Given the description of an element on the screen output the (x, y) to click on. 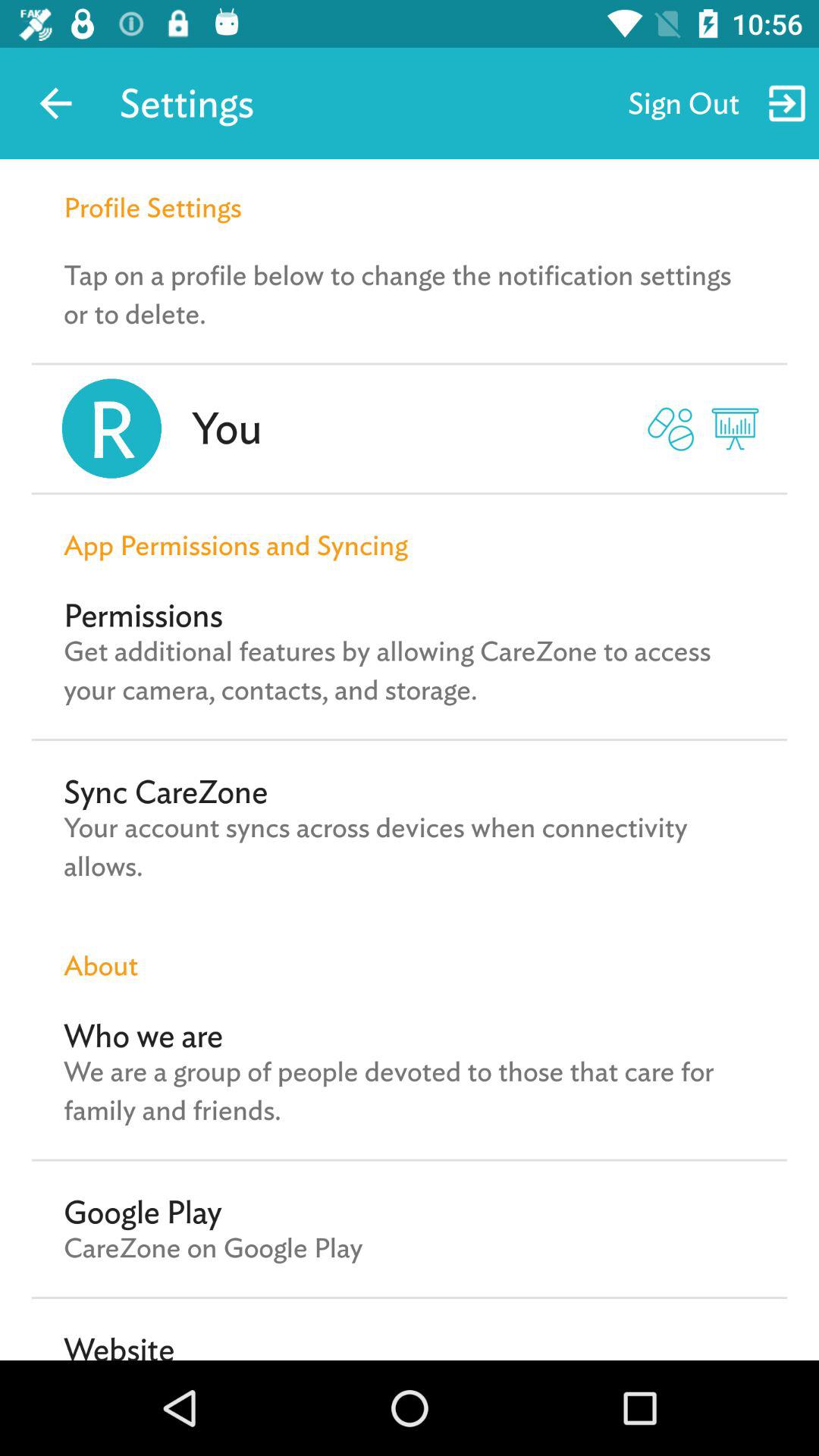
scroll to the tap on a icon (409, 294)
